Given the description of an element on the screen output the (x, y) to click on. 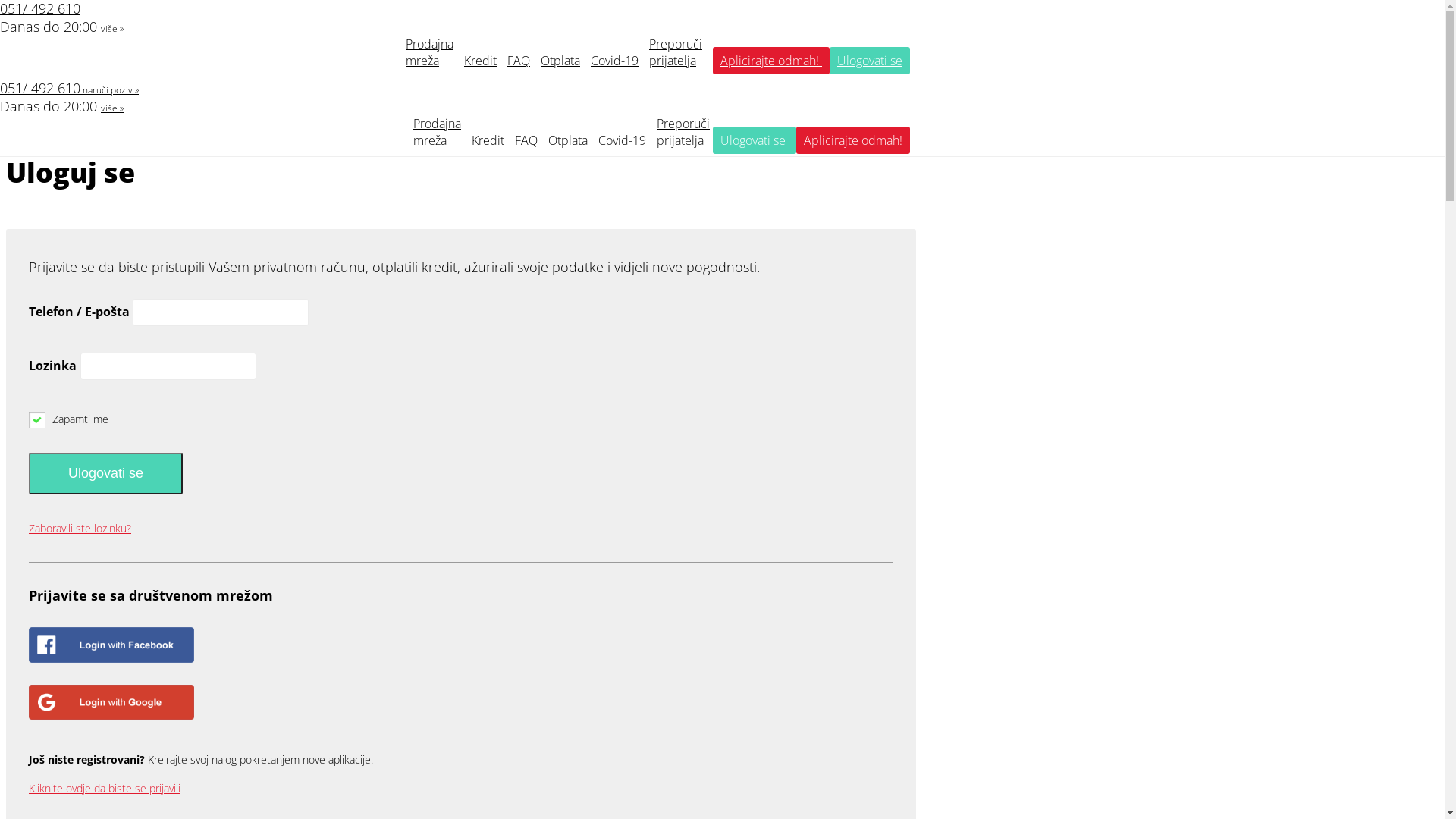
065/353 353 (Viber) Element type: text (59, 69)
Ulogovati se Element type: text (105, 473)
Zaboravili ste lozinku? Element type: text (79, 527)
Kredit Element type: text (487, 139)
Covid-19 Element type: text (622, 139)
Covid-19 Element type: text (614, 60)
Kliknite ovdje da biste se prijavili Element type: text (104, 788)
Otplata Element type: text (560, 60)
Aplicirajte odmah! Element type: text (770, 60)
Aplicirajte odmah! Element type: text (853, 139)
Ulogovati se Element type: text (754, 139)
FAQ Element type: text (525, 139)
FAQ Element type: text (518, 60)
Ulogovati se Element type: text (869, 60)
Kredit Element type: text (480, 60)
051/ 492 610 Element type: text (40, 87)
Forza Element type: text (18, 93)
Otplata Element type: text (567, 139)
